Given the description of an element on the screen output the (x, y) to click on. 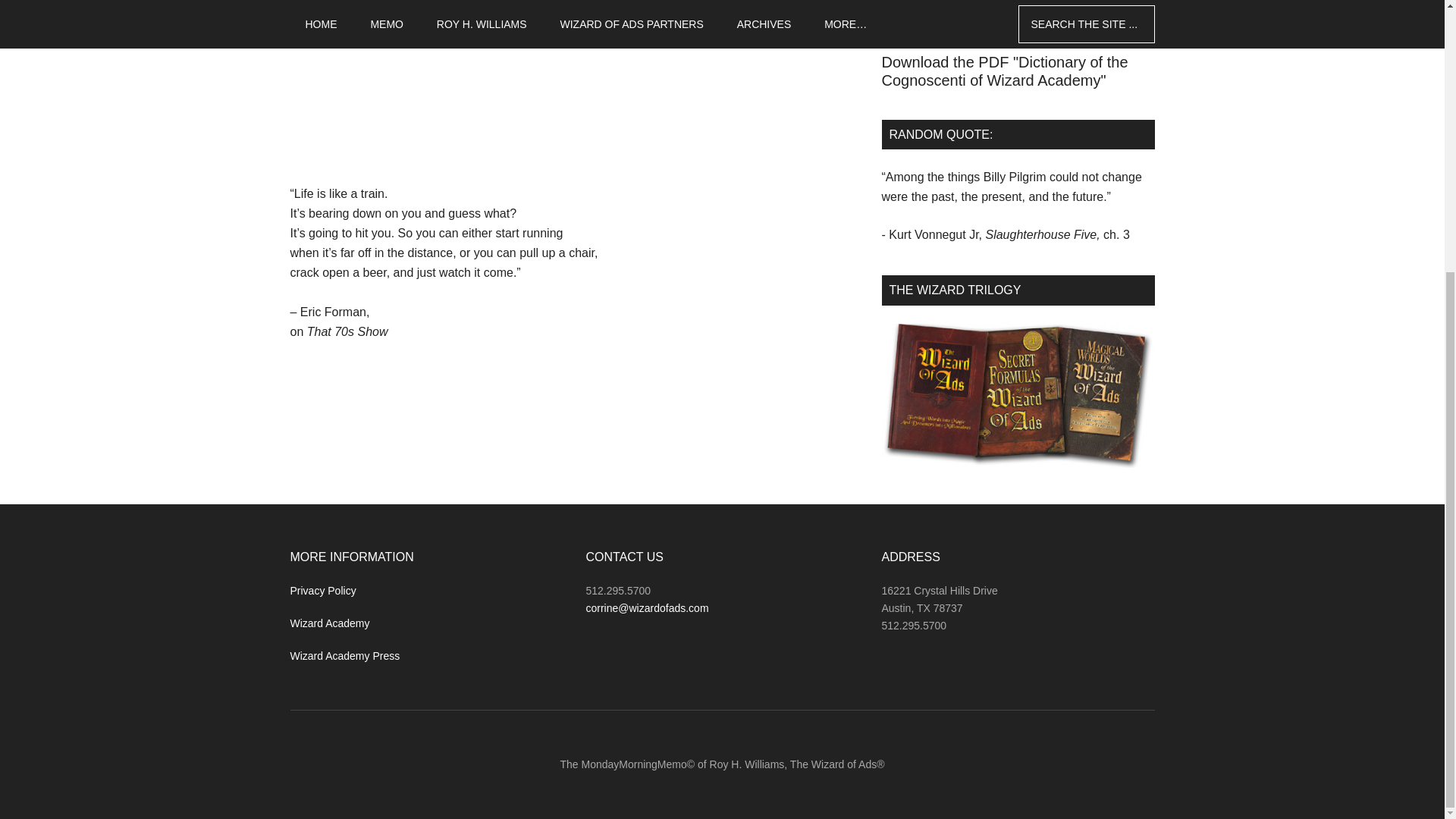
Wizard Academy Press (343, 655)
Privacy Policy (322, 590)
Wizard Academy (329, 623)
